Given the description of an element on the screen output the (x, y) to click on. 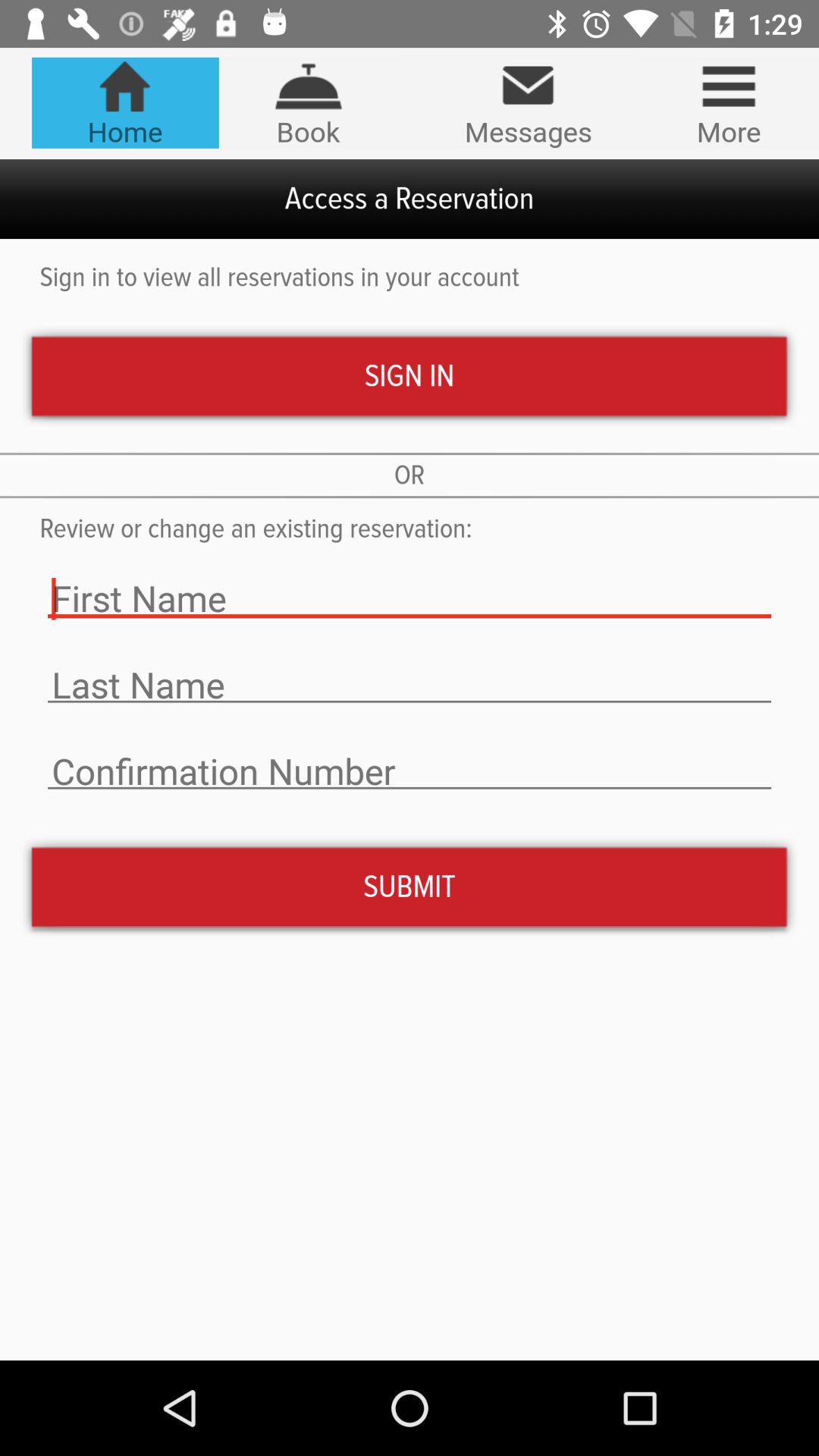
tap item above access a reservation icon (308, 102)
